Given the description of an element on the screen output the (x, y) to click on. 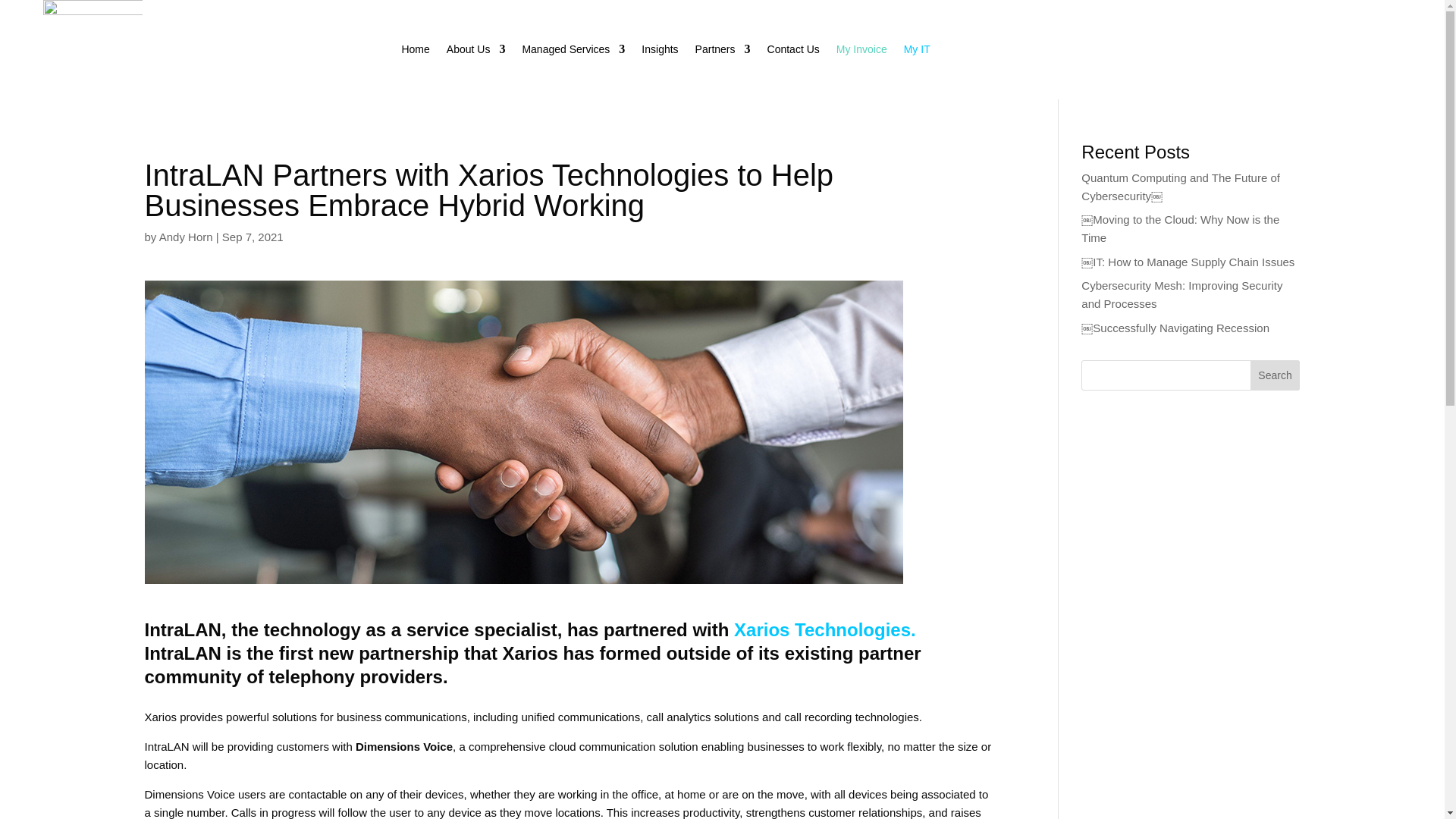
Insights (660, 52)
Contact Us (793, 52)
Home (415, 52)
Andy Horn (185, 236)
Partners (723, 52)
Xarios Technologies (822, 629)
Search (1275, 375)
My IT (917, 52)
Search (1275, 375)
